Given the description of an element on the screen output the (x, y) to click on. 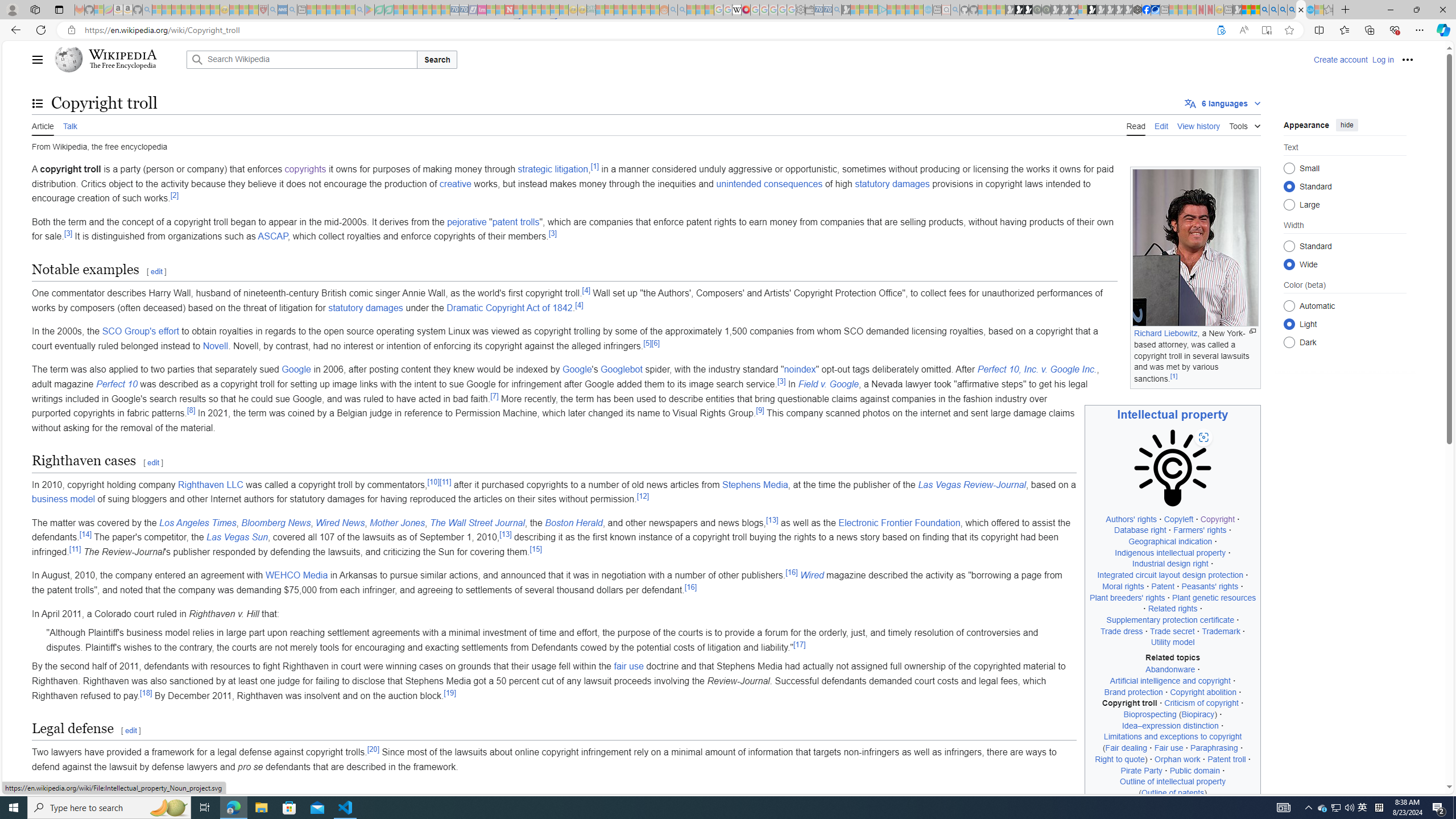
Read (1135, 124)
Article (42, 124)
copyrights (304, 169)
Target page - Wikipedia (736, 9)
Righthaven LLC (210, 484)
Perfect 10 (117, 384)
Geographical indication (1170, 541)
Paraphrasing (1214, 747)
Settings - Sleeping (799, 9)
Dramatic Copyright Act of 1842 (509, 307)
